Given the description of an element on the screen output the (x, y) to click on. 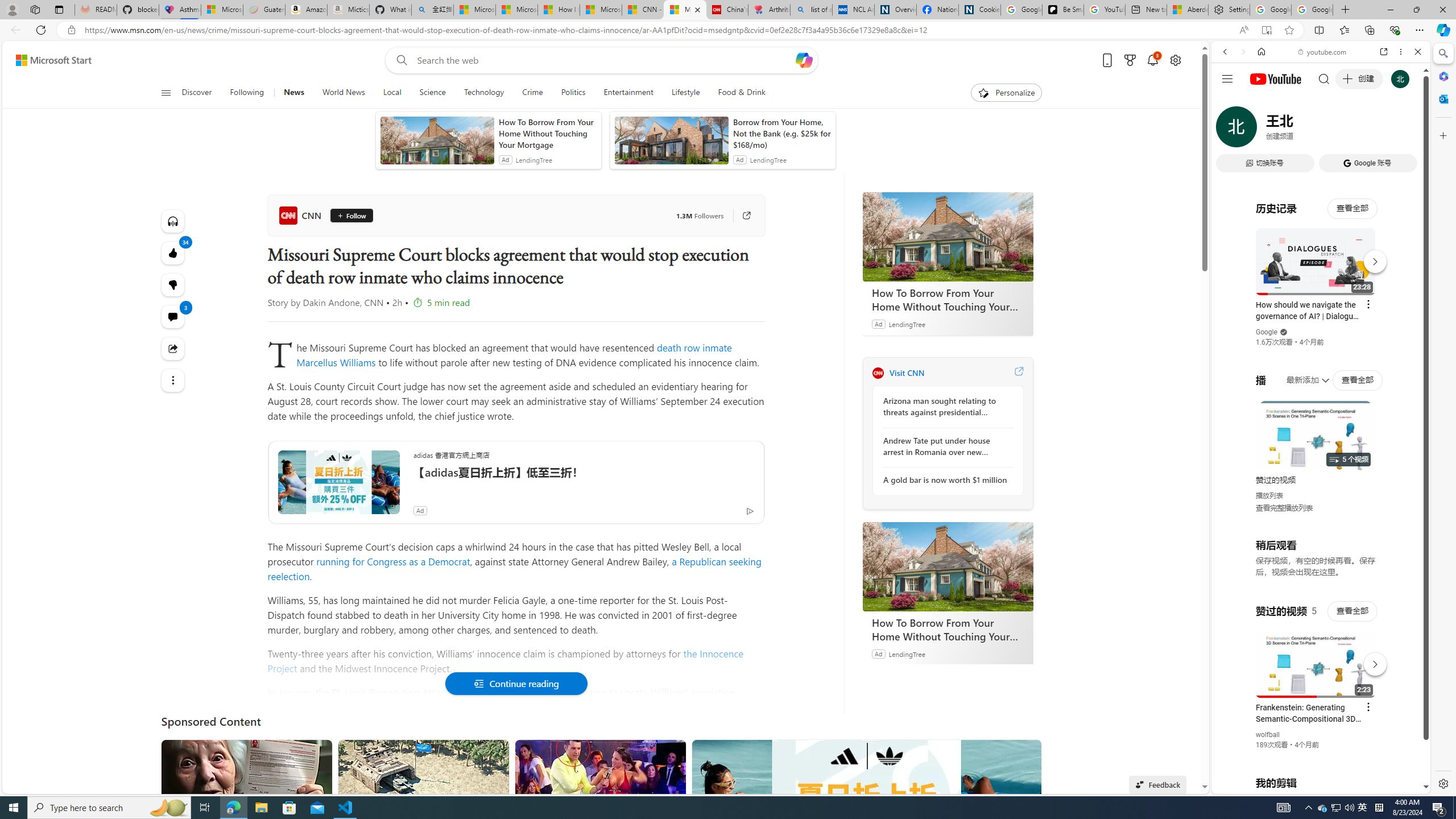
Actions for this site (1371, 661)
Visit CNN website (1018, 372)
Close Customize pane (1442, 135)
Notifications (1152, 60)
US[ju] (1249, 785)
Show More Music (1390, 310)
Trailer #2 [HD] (1320, 337)
Cookies (979, 9)
